Given the description of an element on the screen output the (x, y) to click on. 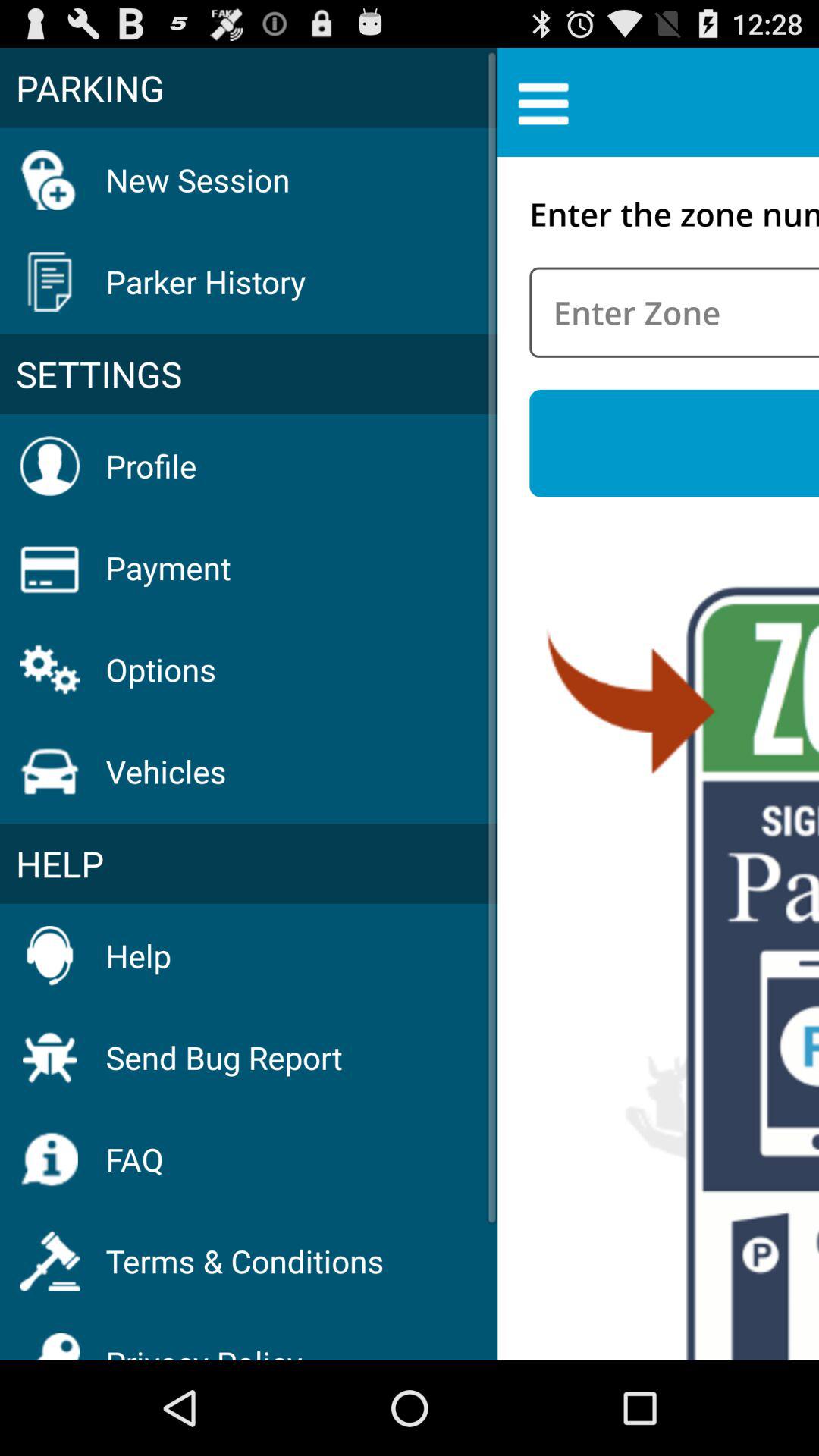
select item to the right of the parking (543, 101)
